Given the description of an element on the screen output the (x, y) to click on. 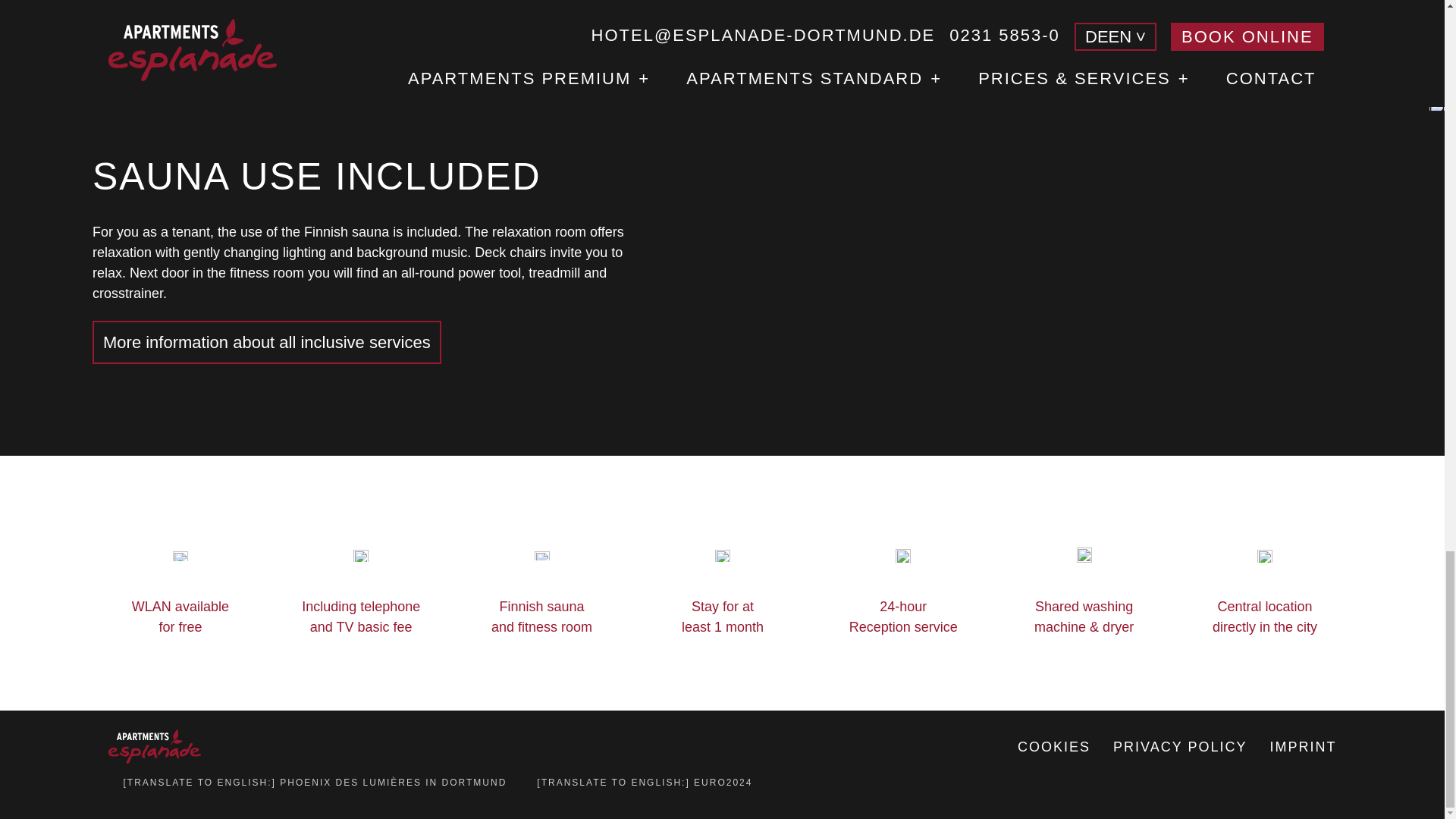
Included Services (1083, 616)
Inkluded service (180, 616)
Included Services (267, 342)
Inklusiive services (542, 616)
Information (721, 616)
Inklusive service (360, 616)
